Given the description of an element on the screen output the (x, y) to click on. 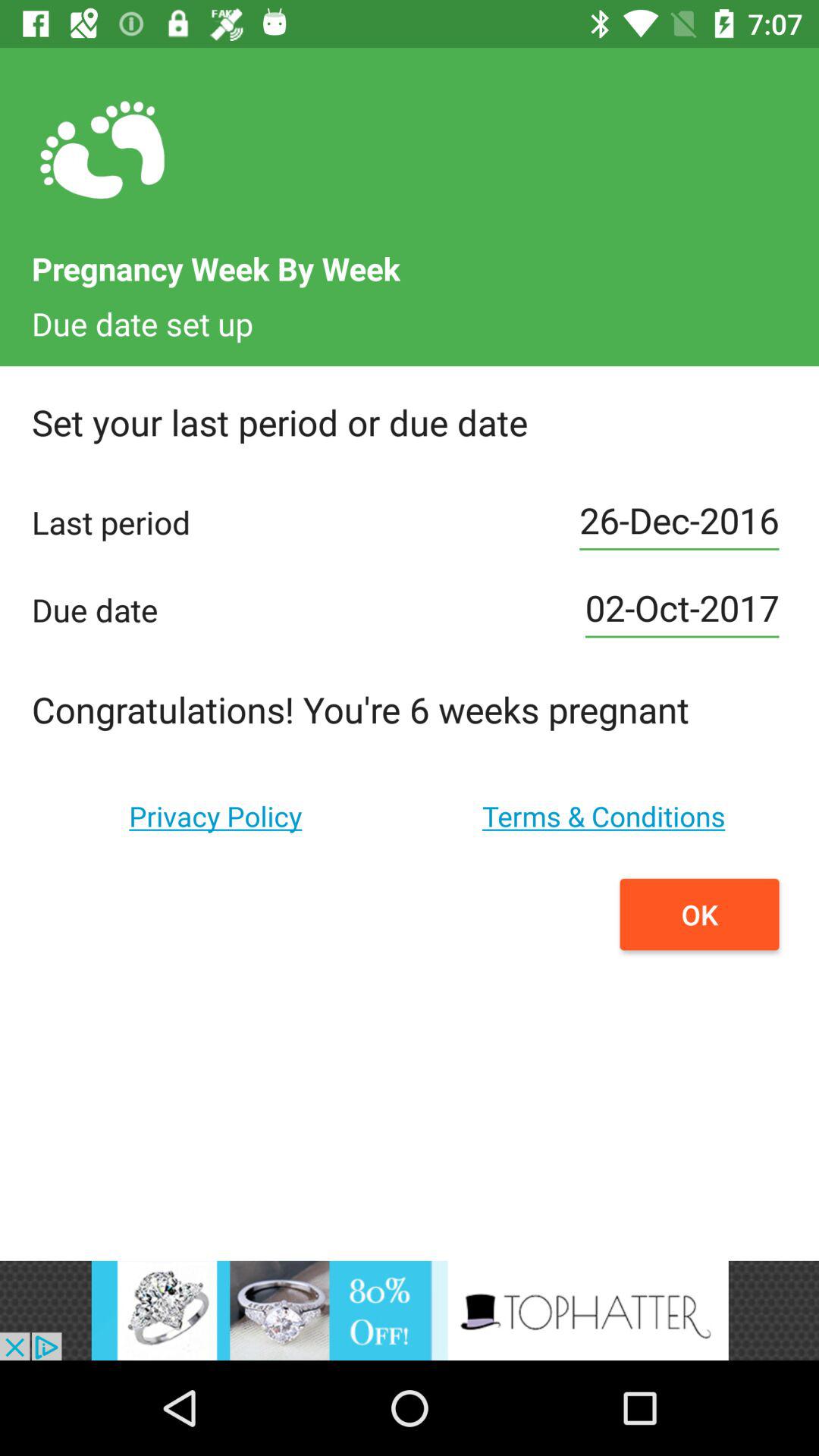
advertisement (409, 1310)
